Given the description of an element on the screen output the (x, y) to click on. 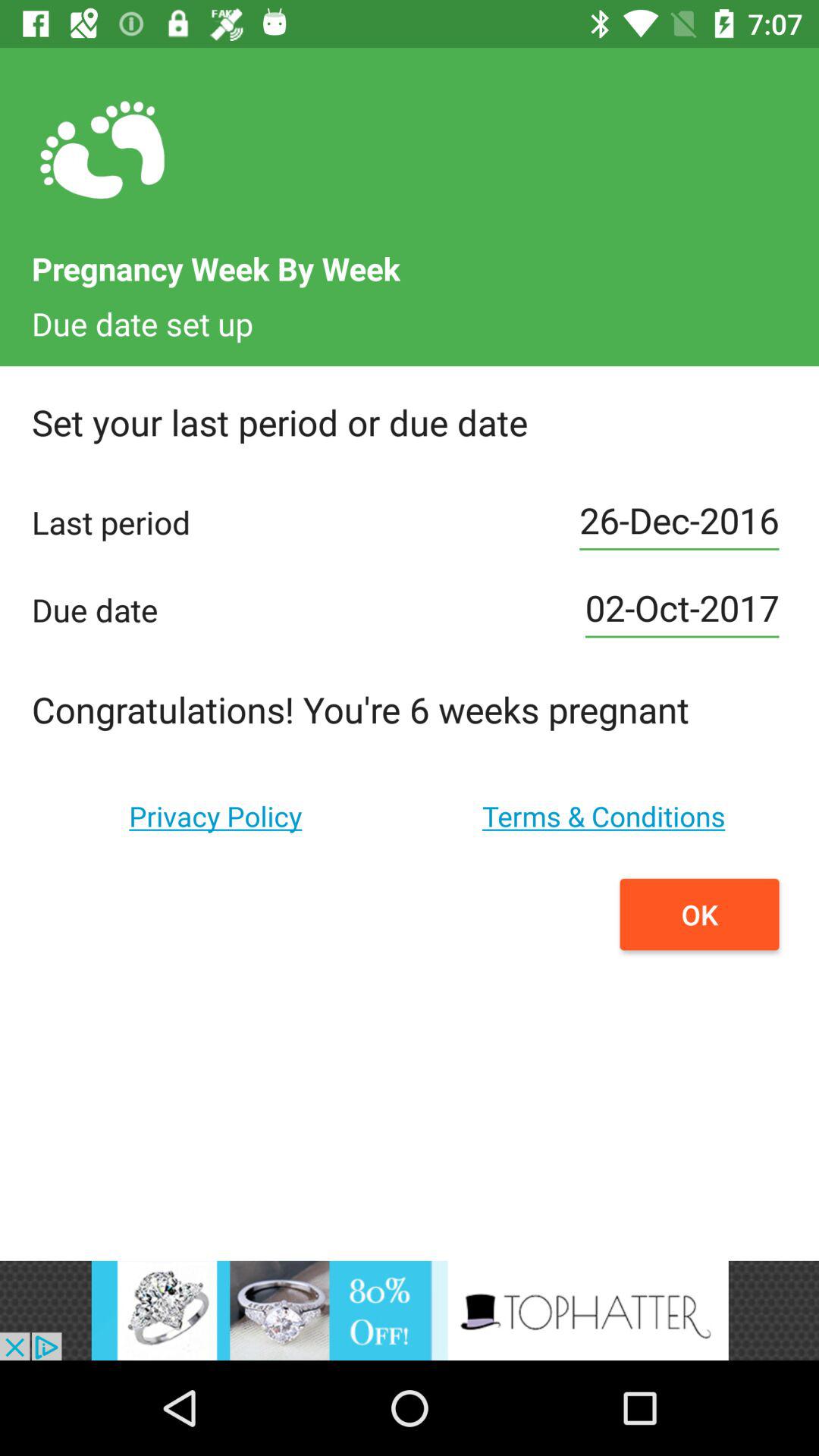
advertisement (409, 1310)
